Given the description of an element on the screen output the (x, y) to click on. 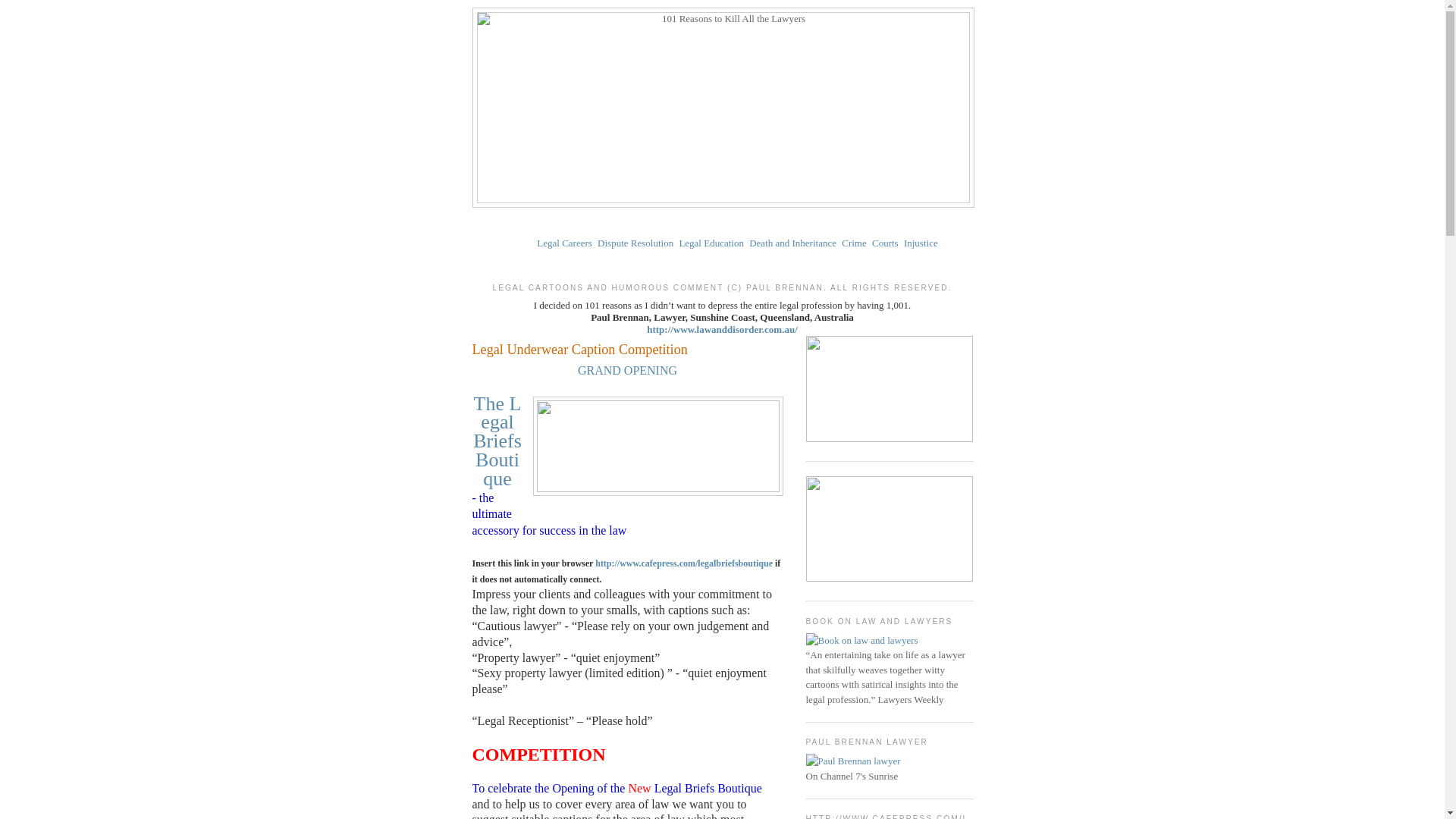
- the ultimate accessory for success in the law Element type: text (548, 514)
Death and Inheritance Element type: text (792, 242)
 http://www.cafepress.com/legalbriefsboutique Element type: text (682, 563)
To celebrate the Opening of the New Legal Briefs Boutique  Element type: text (617, 787)
The Element type: text (488, 403)
Legal Briefs Boutique Element type: text (497, 440)
http://www.lawanddisorder.com.au/ Element type: text (721, 329)
Legal Underwear Caption Competition Element type: text (626, 349)
Dispute Resolution Element type: text (635, 242)
Courts Element type: text (885, 242)
GRAND OPENING Element type: text (627, 370)
Crime Element type: text (853, 242)
Injustice Element type: text (920, 242)
Legal Education Element type: text (710, 242)
Legal Careers Element type: text (564, 242)
